Given the description of an element on the screen output the (x, y) to click on. 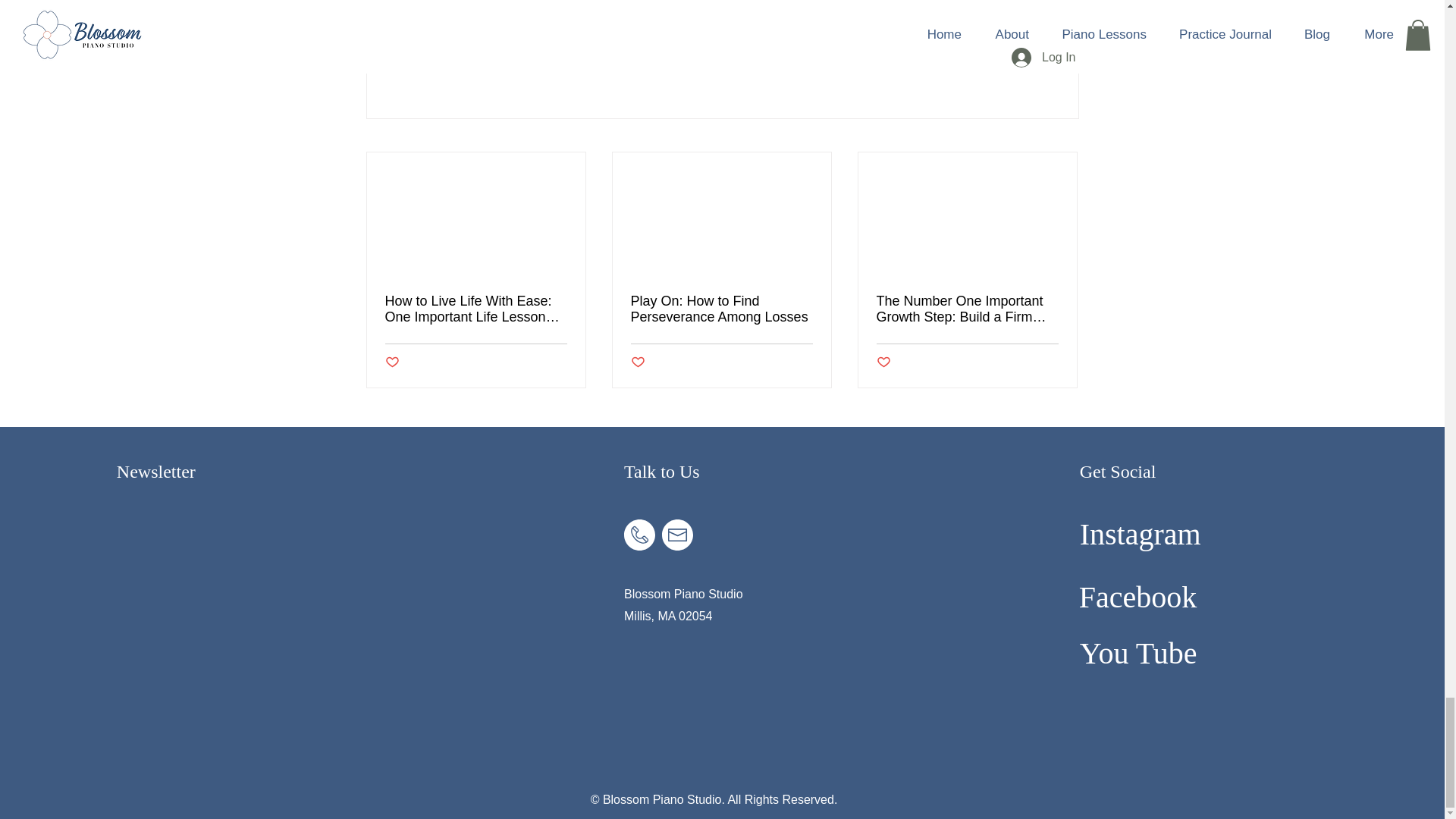
Instagram (1140, 533)
Post not marked as liked (883, 362)
Blossom Piano Studio (683, 594)
Facebook (1137, 596)
Post not marked as liked (391, 362)
You Tube (1138, 653)
Play On: How to Find Perseverance Among Losses (721, 309)
Post not marked as liked (995, 64)
Post not marked as liked (637, 362)
